Given the description of an element on the screen output the (x, y) to click on. 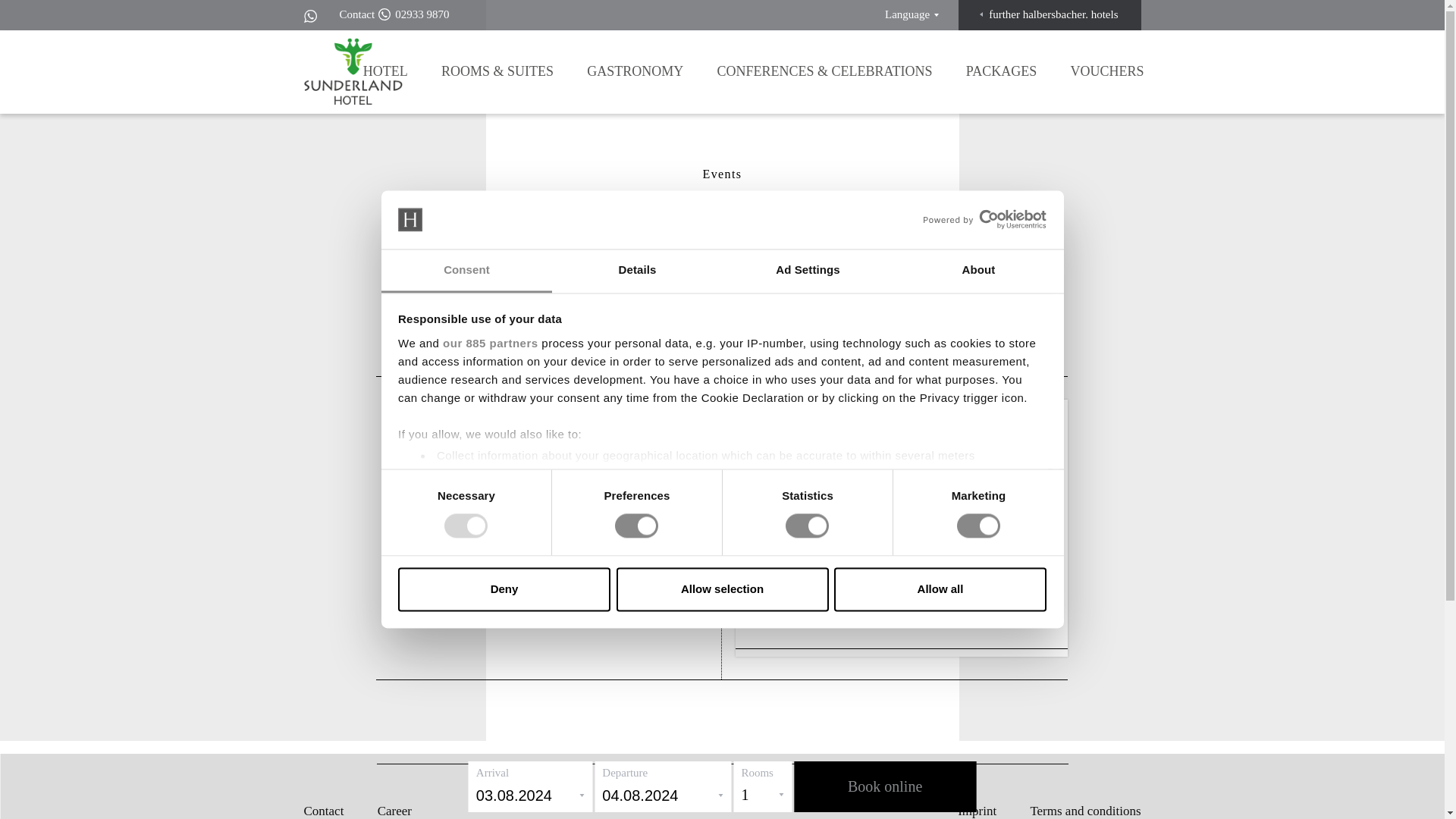
Consent (465, 270)
About (978, 270)
Book online (884, 787)
details section (927, 494)
Ad Settings (807, 270)
Details (636, 270)
our 885 partners (490, 342)
